Given the description of an element on the screen output the (x, y) to click on. 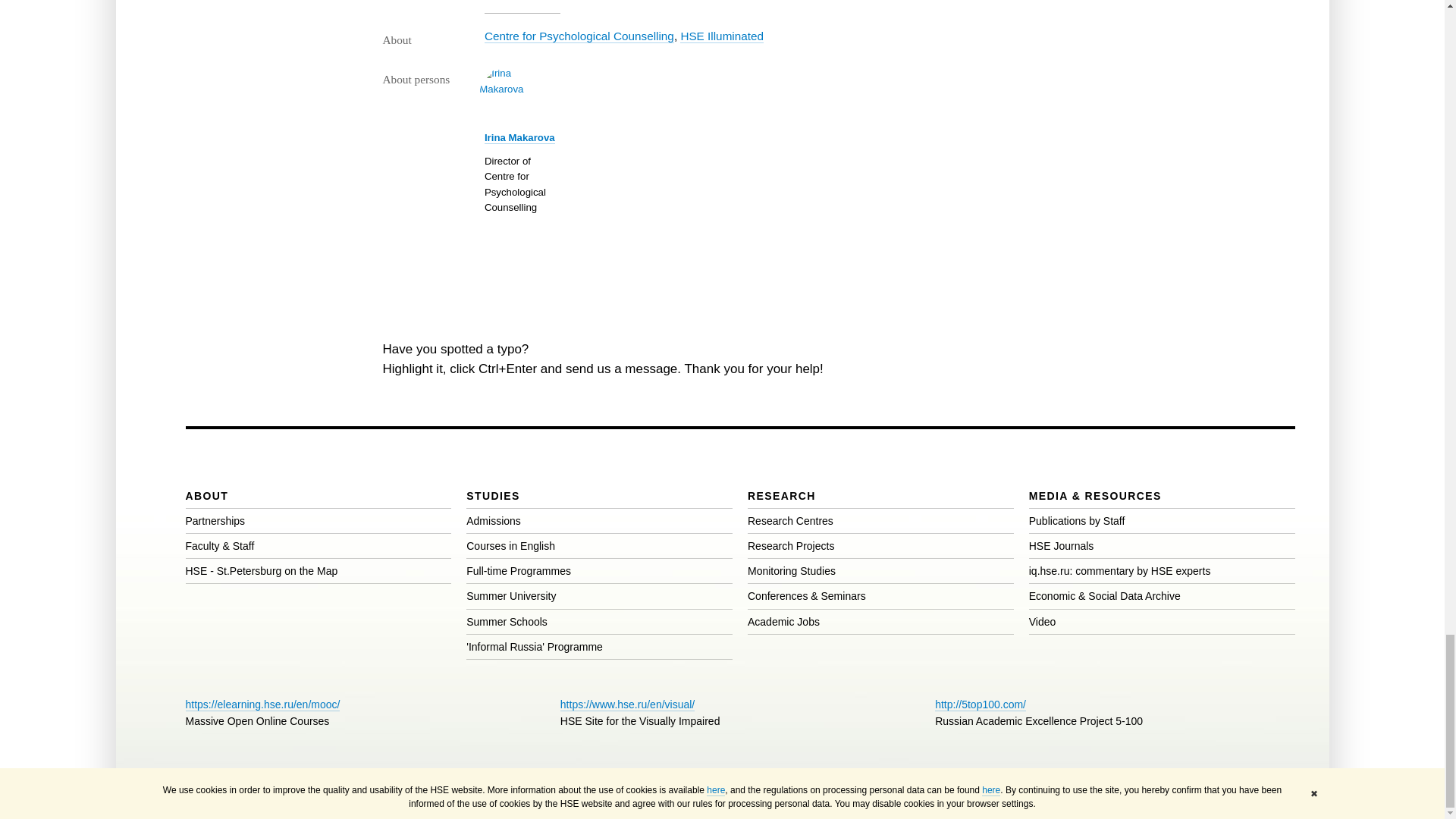
Centre for Psychological Counselling (579, 36)
HSE Illuminated (720, 36)
